Given the description of an element on the screen output the (x, y) to click on. 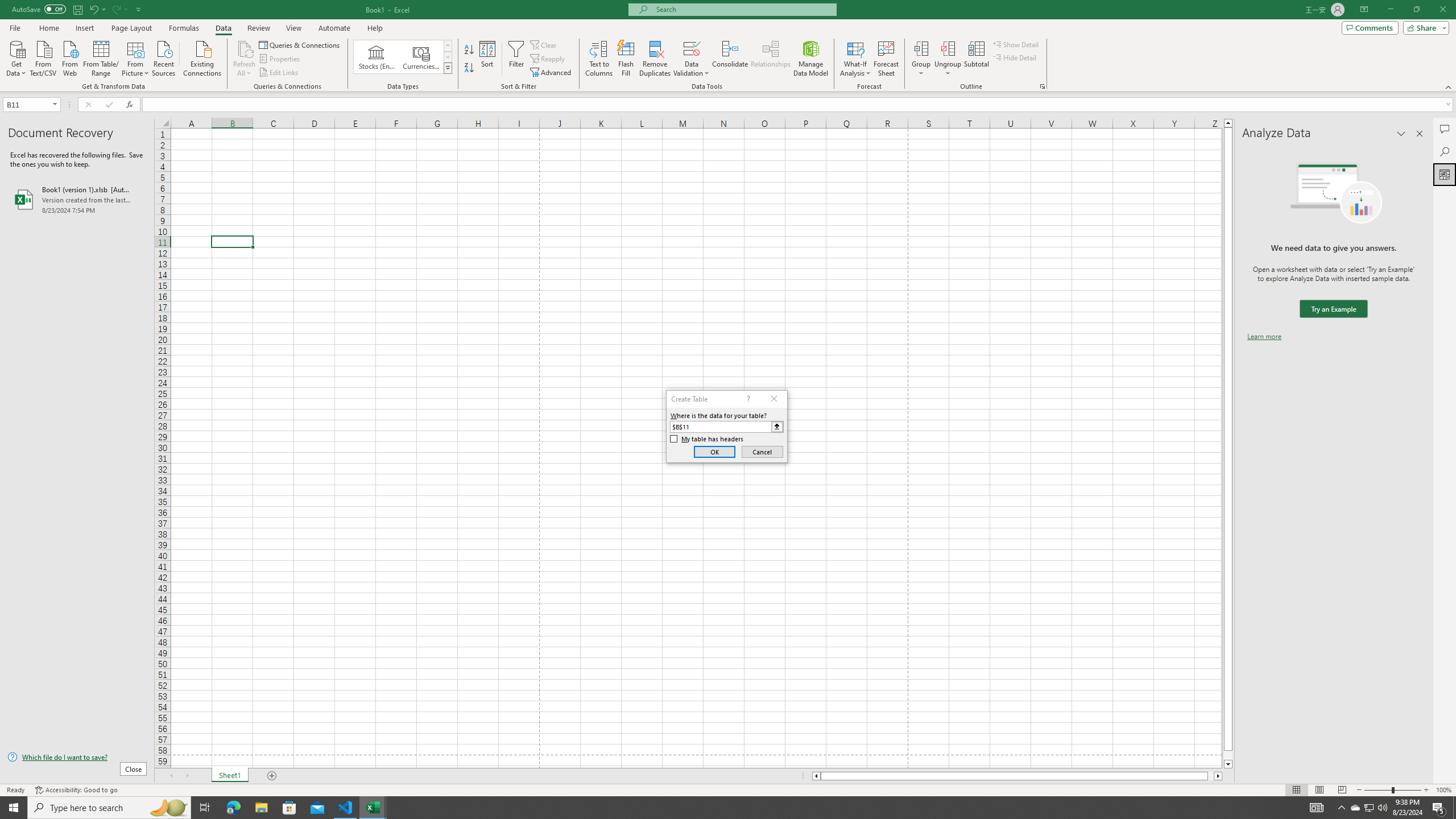
From Table/Range (100, 57)
Consolidate... (729, 58)
Sort Z to A (469, 67)
Class: MsoCommandBar (728, 45)
Learn more (1264, 336)
Forecast Sheet (885, 58)
